Given the description of an element on the screen output the (x, y) to click on. 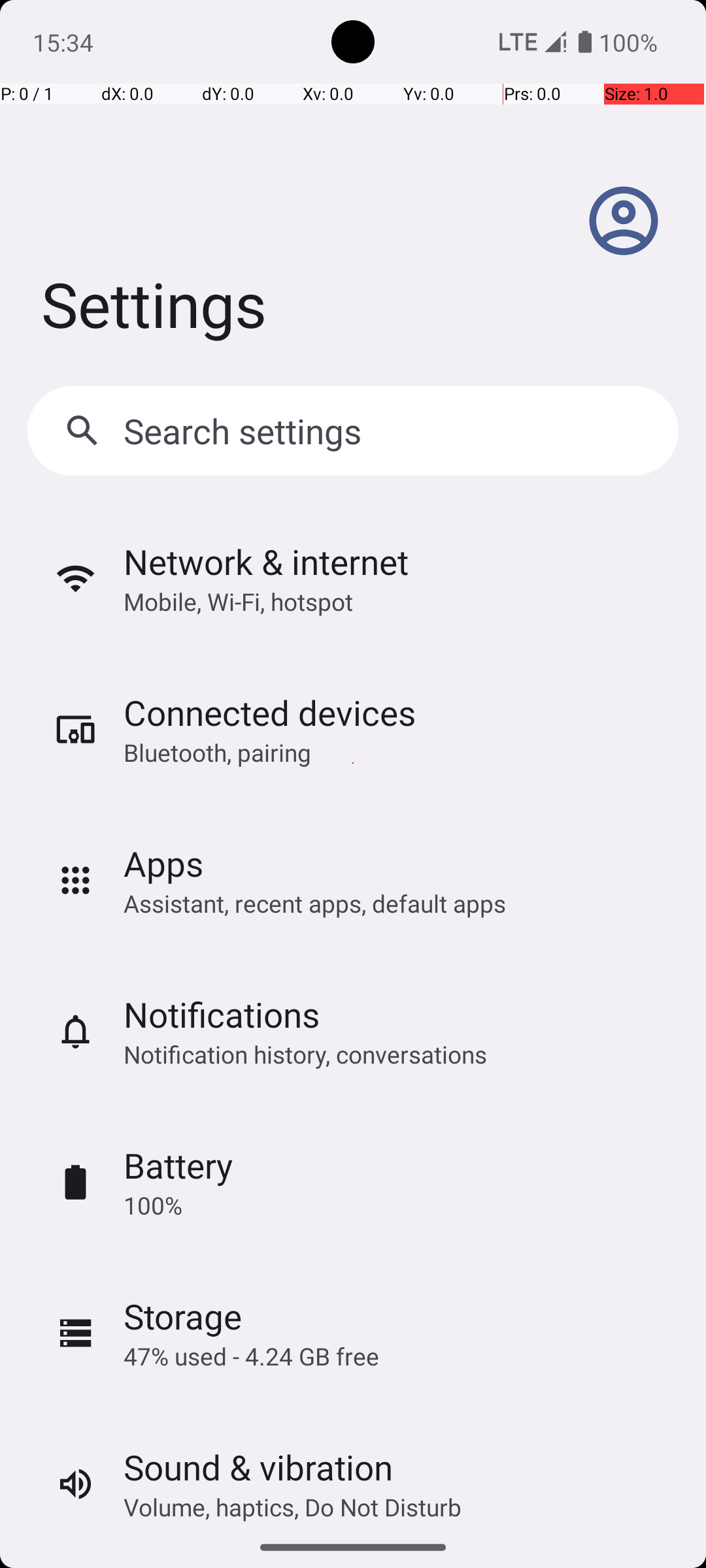
47% used - 4.24 GB free Element type: android.widget.TextView (251, 1355)
